Given the description of an element on the screen output the (x, y) to click on. 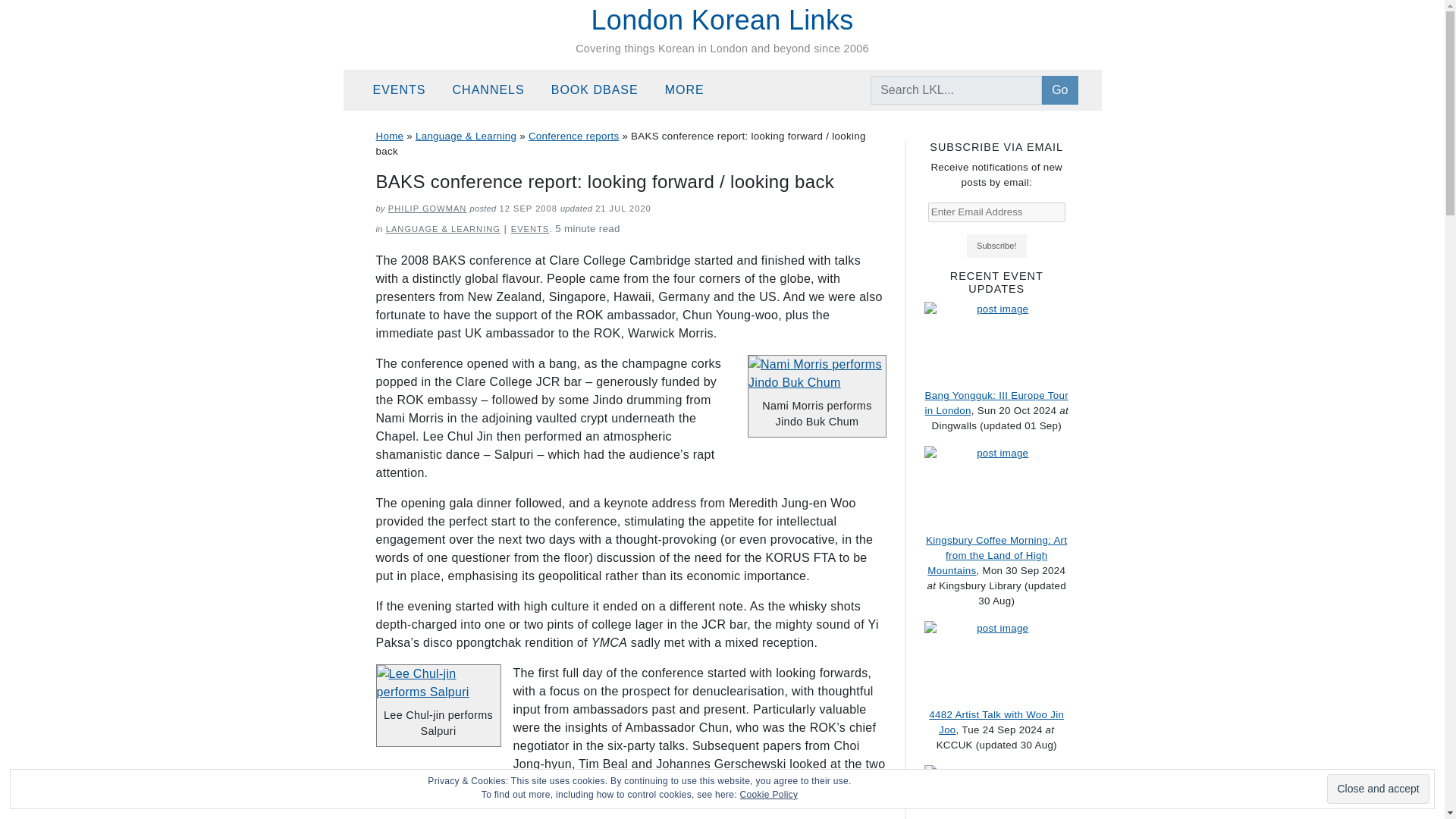
Conference reports (574, 135)
Close and accept (1377, 788)
12 SEP 2008 (528, 207)
Channels (495, 90)
London Korean Links (722, 20)
MORE (692, 90)
21 JUL 2020 (622, 207)
CHANNELS (495, 90)
Events (406, 90)
EVENTS (529, 228)
